Given the description of an element on the screen output the (x, y) to click on. 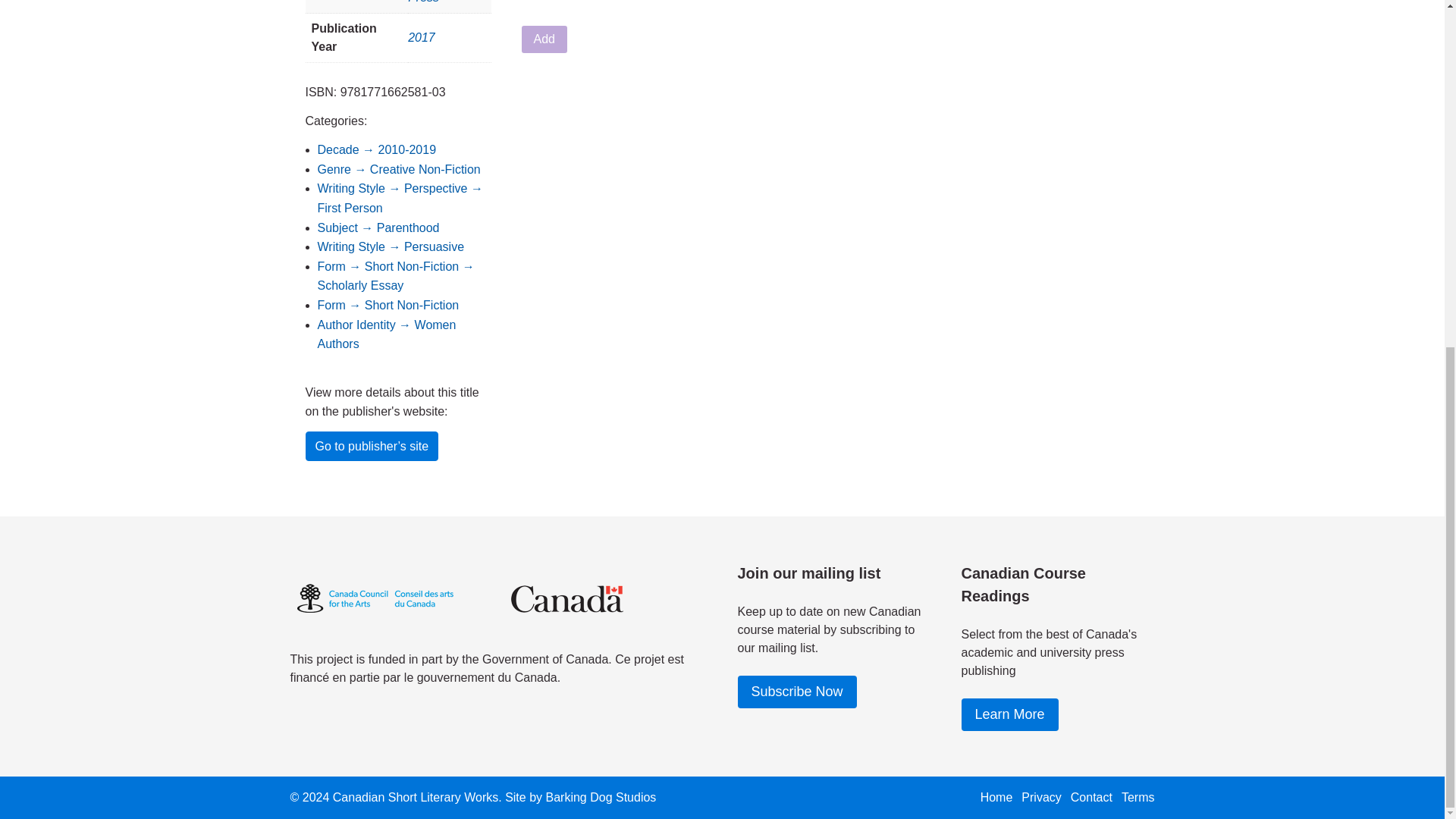
Contact (1091, 797)
Home (996, 797)
Barking Dog Studios (601, 797)
Subscribe Now (796, 692)
2017 (421, 37)
Privacy (1041, 797)
Learn More (1009, 715)
Add (544, 39)
